Given the description of an element on the screen output the (x, y) to click on. 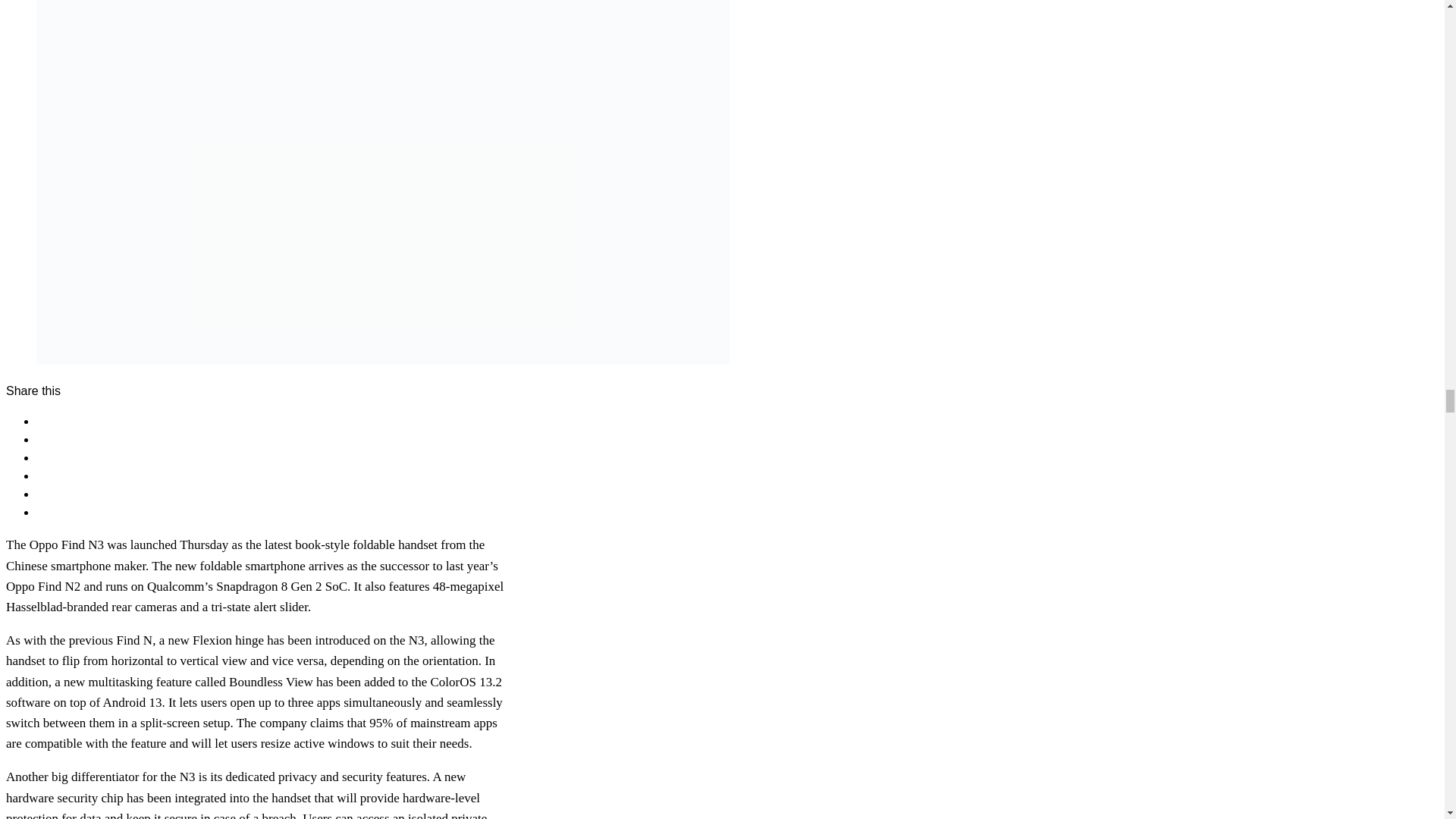
Facebook (62, 420)
Whatsapp (63, 475)
Reddit (53, 493)
Pinterest (60, 457)
Twitter (53, 439)
Email (51, 512)
